Given the description of an element on the screen output the (x, y) to click on. 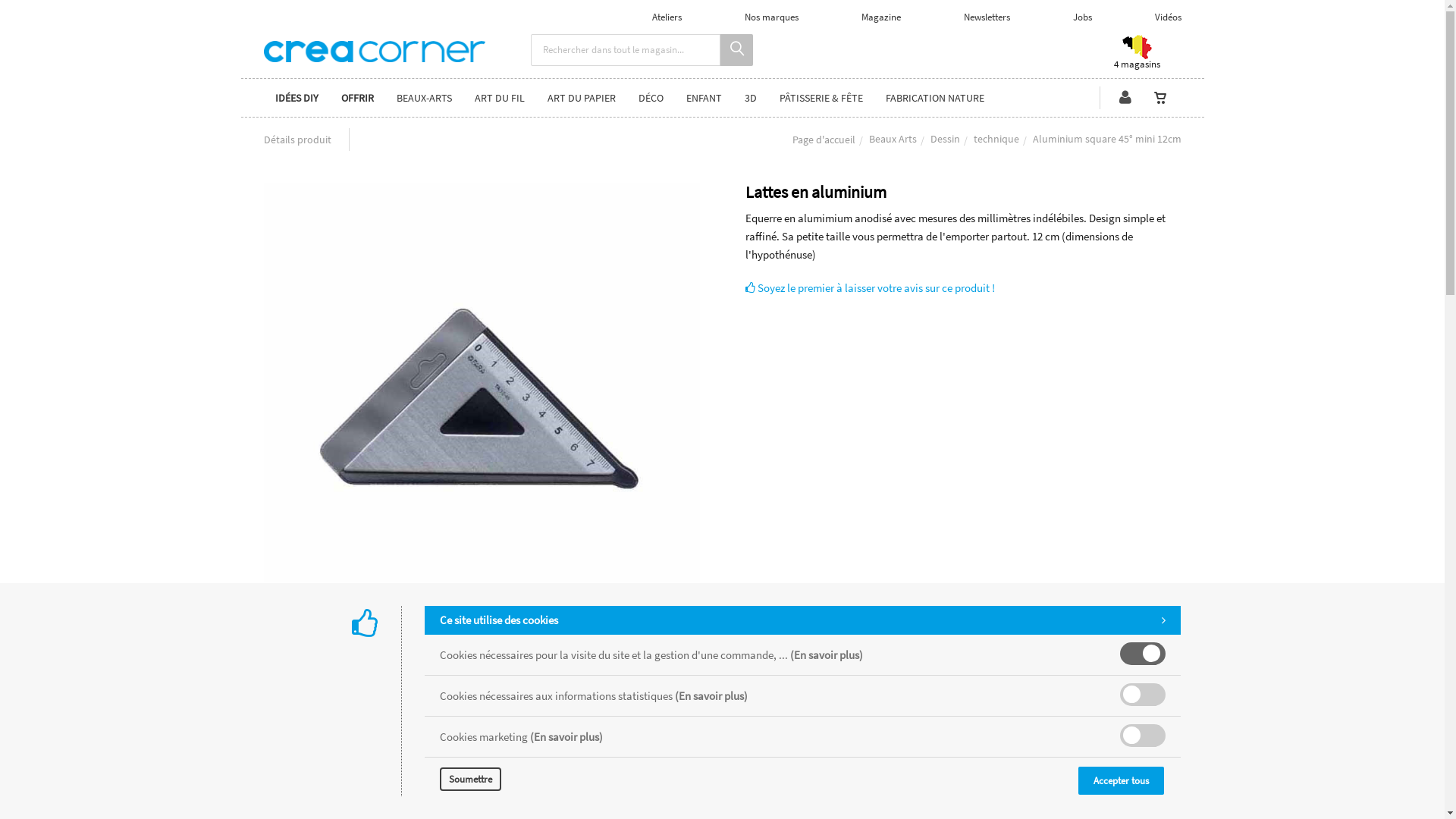
(En savoir plus) Element type: text (566, 736)
Nos marques Element type: text (771, 16)
Ce site utilise des cookies Element type: text (802, 619)
BEAUX-ARTS Element type: text (424, 97)
Newsletters Element type: text (986, 16)
Dessin Element type: text (944, 138)
Accepter tous Element type: text (1121, 780)
3D Element type: text (749, 97)
- Element type: text (817, 717)
Avis Element type: text (469, 645)
Jobs Element type: text (1081, 16)
Magazine Element type: text (880, 16)
Beaux Arts Element type: text (892, 138)
(En savoir plus) Element type: text (826, 654)
4 magasins Element type: text (1136, 54)
Ateliers Element type: text (666, 16)
Page d'accueil Element type: text (822, 139)
FABRICATION NATURE Element type: text (933, 97)
ART DU PAPIER Element type: text (580, 97)
ART DU FIL Element type: text (498, 97)
OFFRIR Element type: text (356, 97)
Description Element type: text (414, 645)
Choisir mon produit Element type: text (320, 645)
Soumettre Element type: text (470, 778)
(En savoir plus) Element type: text (710, 695)
+ Element type: text (899, 717)
technique Element type: text (996, 138)
ENFANT Element type: text (703, 97)
